Given the description of an element on the screen output the (x, y) to click on. 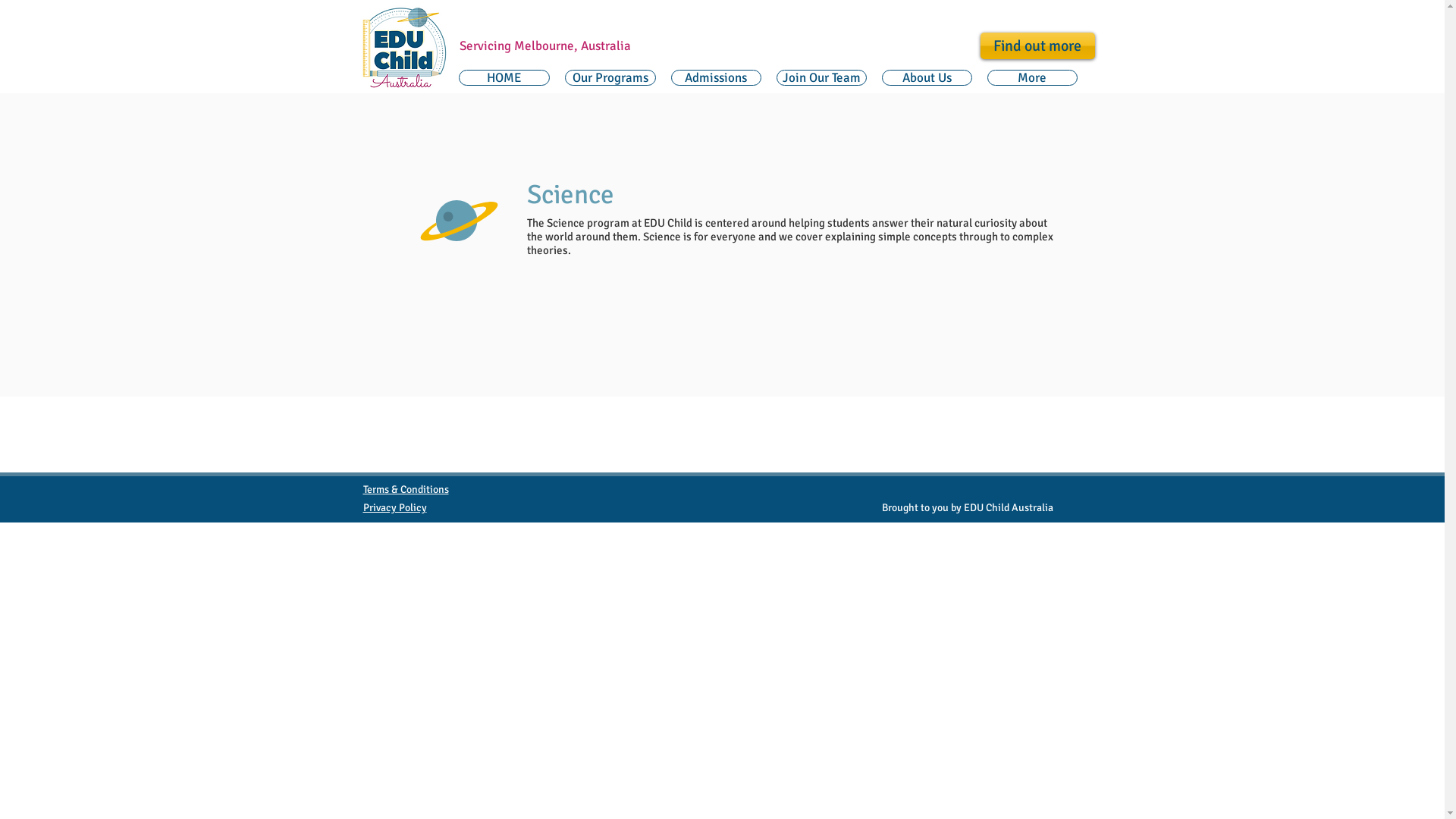
HOME Element type: text (503, 77)
Find out more Element type: text (1036, 45)
Terms & Conditions Element type: text (405, 489)
Join Our Team Element type: text (821, 77)
Privacy Policy Element type: text (394, 507)
Our Programs Element type: text (609, 77)
About Us Element type: text (926, 77)
Admissions Element type: text (715, 77)
